Given the description of an element on the screen output the (x, y) to click on. 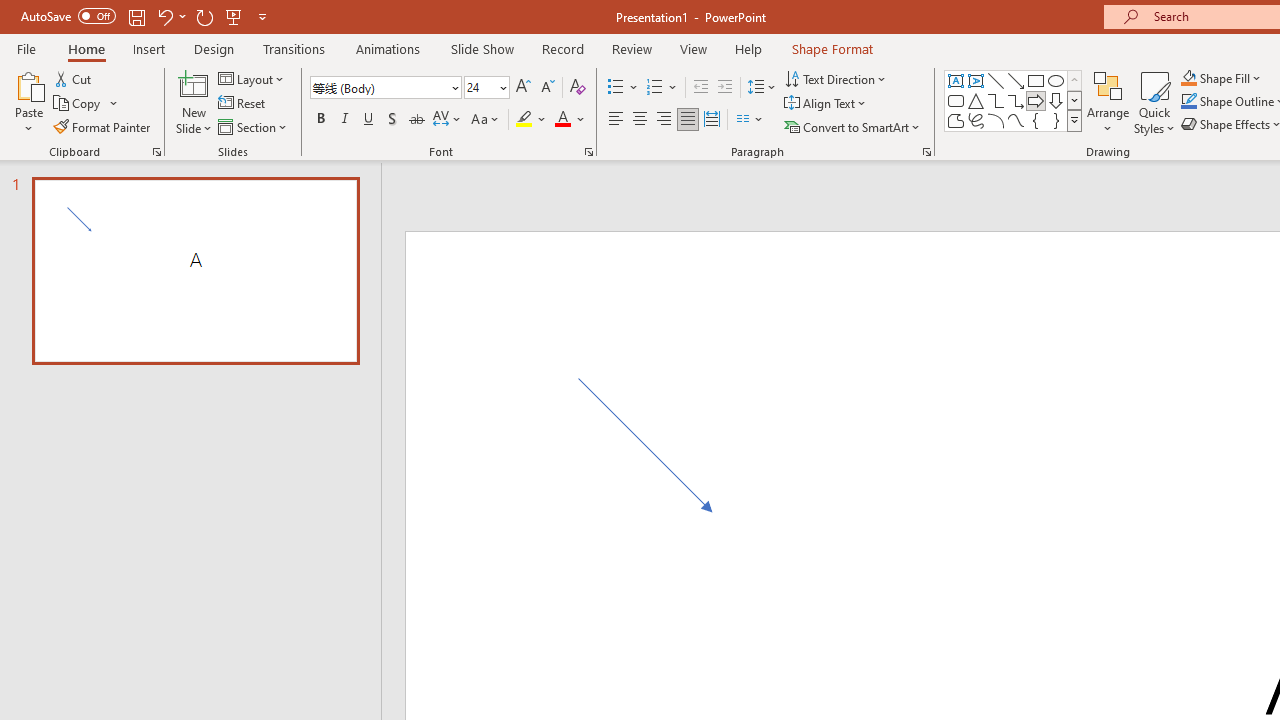
Shape Fill Orange, Accent 2 (1188, 78)
